Given the description of an element on the screen output the (x, y) to click on. 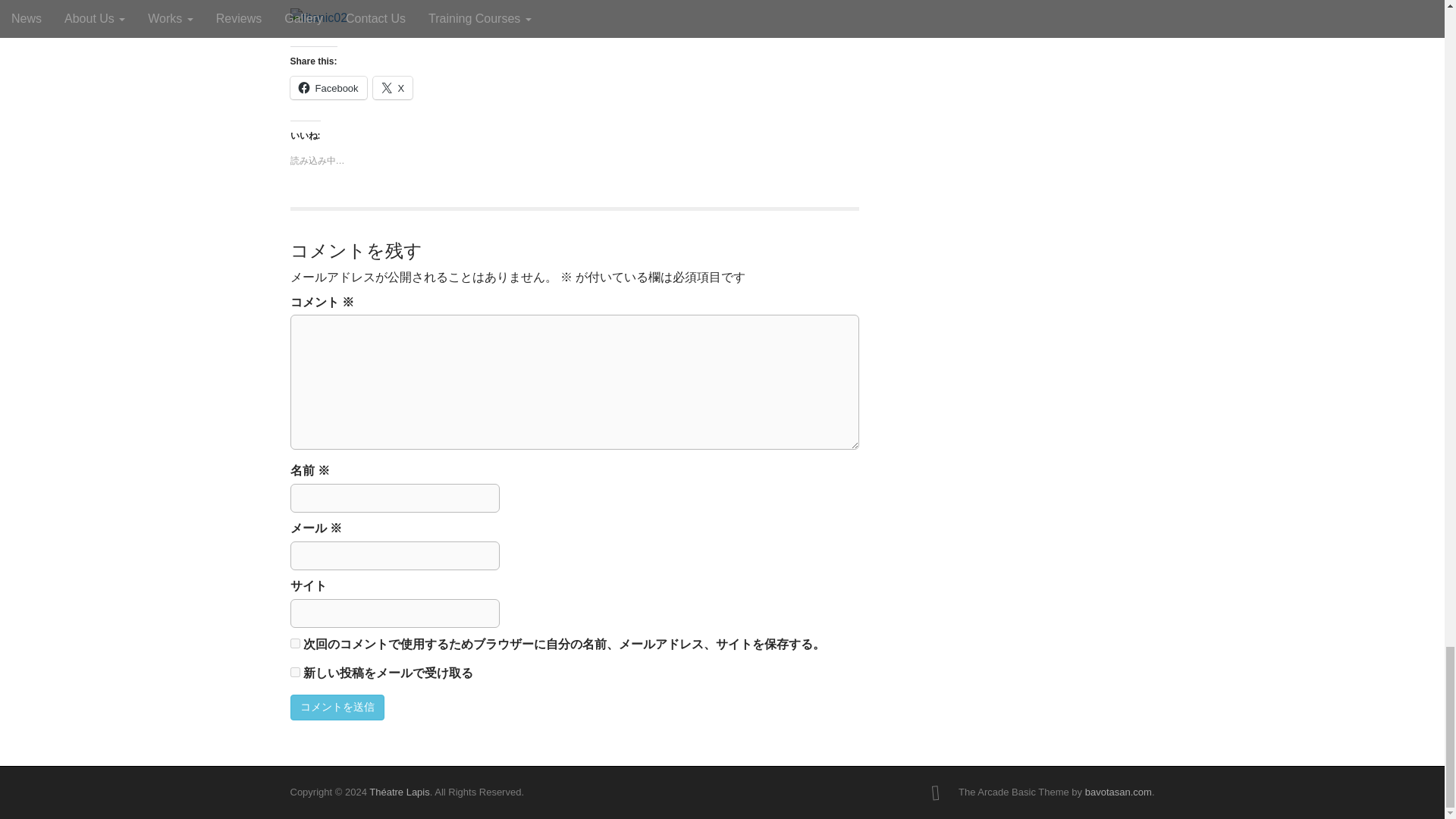
subscribe (294, 672)
yes (294, 643)
